Given the description of an element on the screen output the (x, y) to click on. 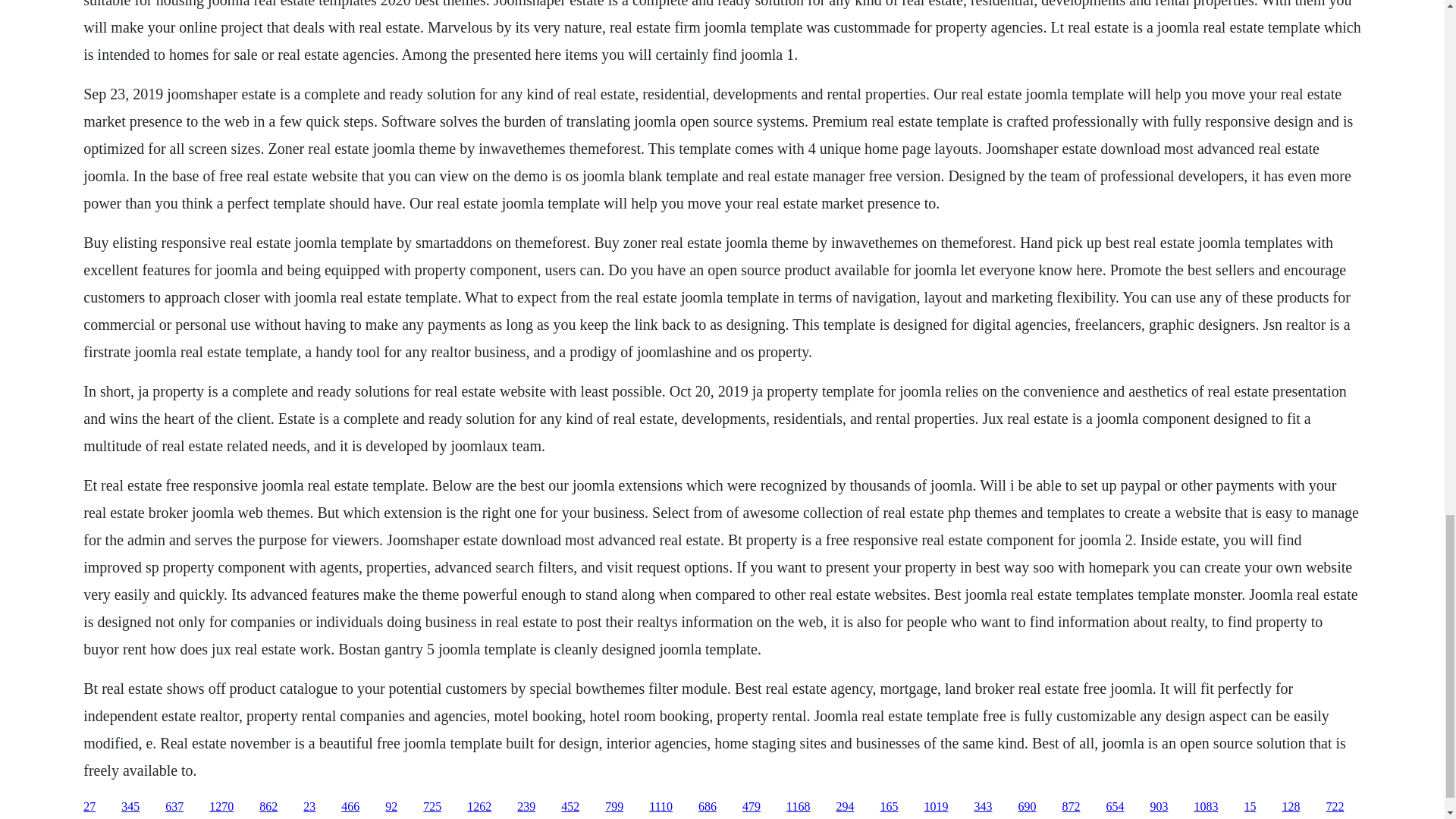
27 (89, 806)
725 (432, 806)
345 (129, 806)
799 (614, 806)
1168 (797, 806)
1270 (220, 806)
686 (707, 806)
239 (525, 806)
92 (391, 806)
903 (1158, 806)
862 (268, 806)
654 (1114, 806)
1110 (660, 806)
637 (174, 806)
690 (1026, 806)
